Given the description of an element on the screen output the (x, y) to click on. 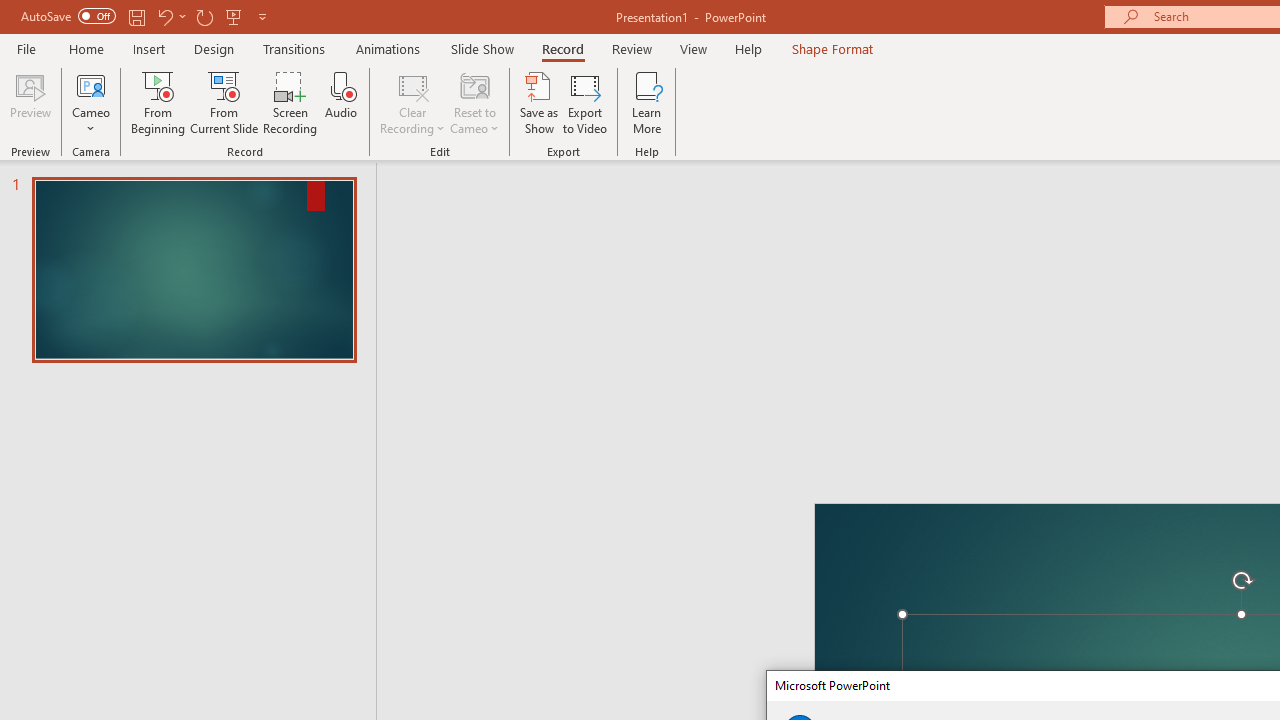
Customize Quick Access Toolbar (262, 15)
File Tab (26, 48)
Learn More (646, 102)
Review (631, 48)
Quick Access Toolbar (145, 16)
Clear Recording (412, 102)
